Given the description of an element on the screen output the (x, y) to click on. 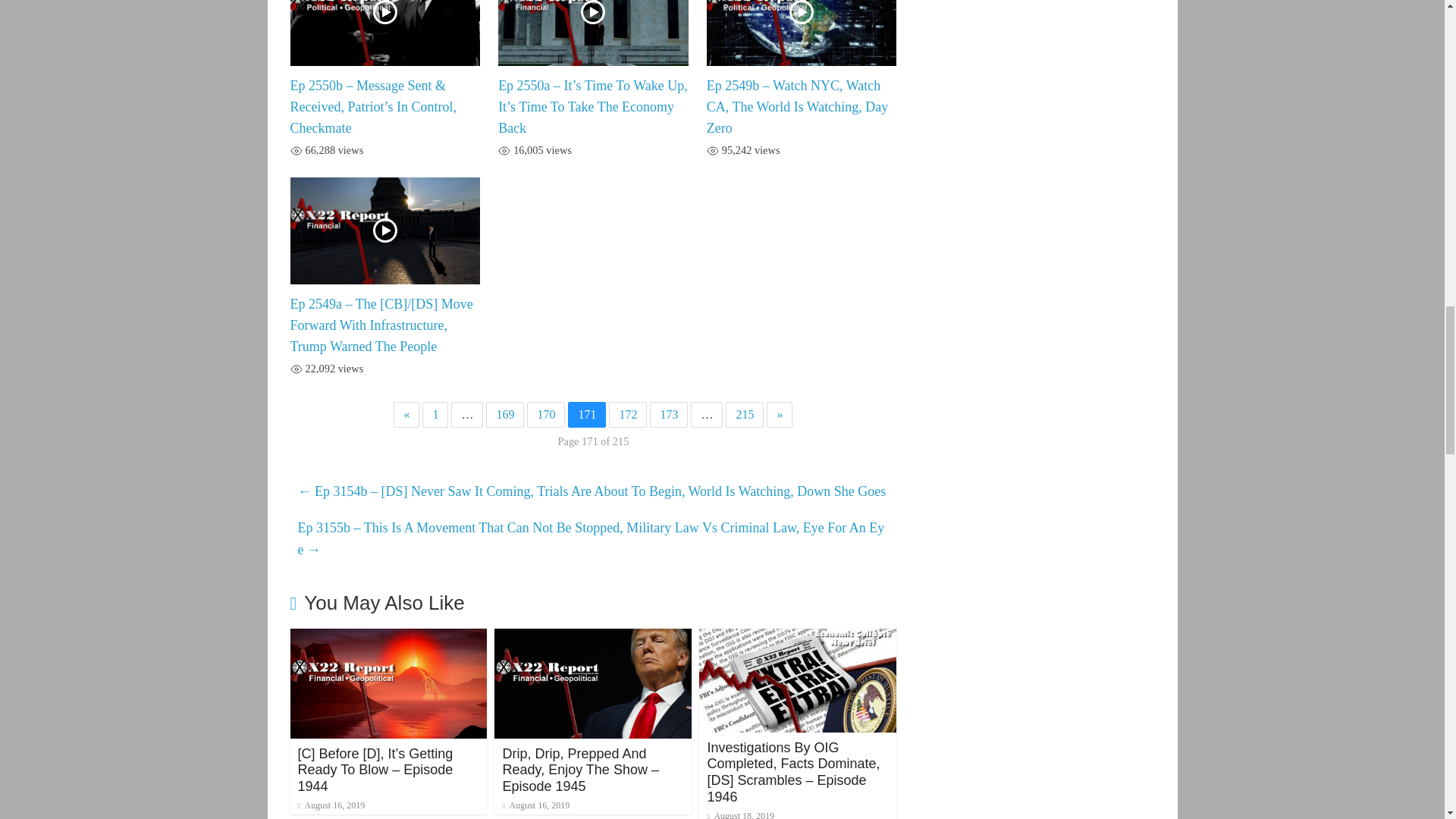
12:40 am (331, 805)
